Given the description of an element on the screen output the (x, y) to click on. 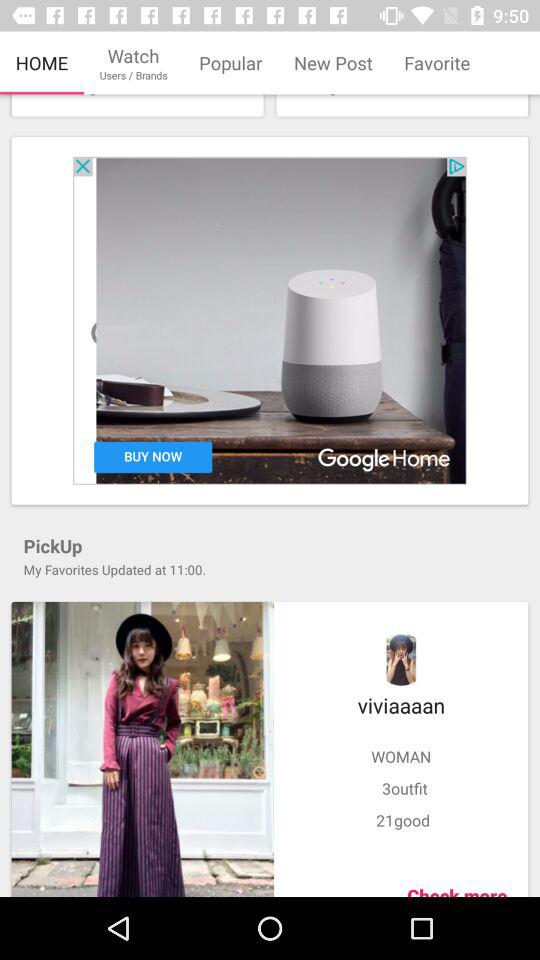
select popular (230, 63)
click the image which is above viviaaaan (401, 659)
